Given the description of an element on the screen output the (x, y) to click on. 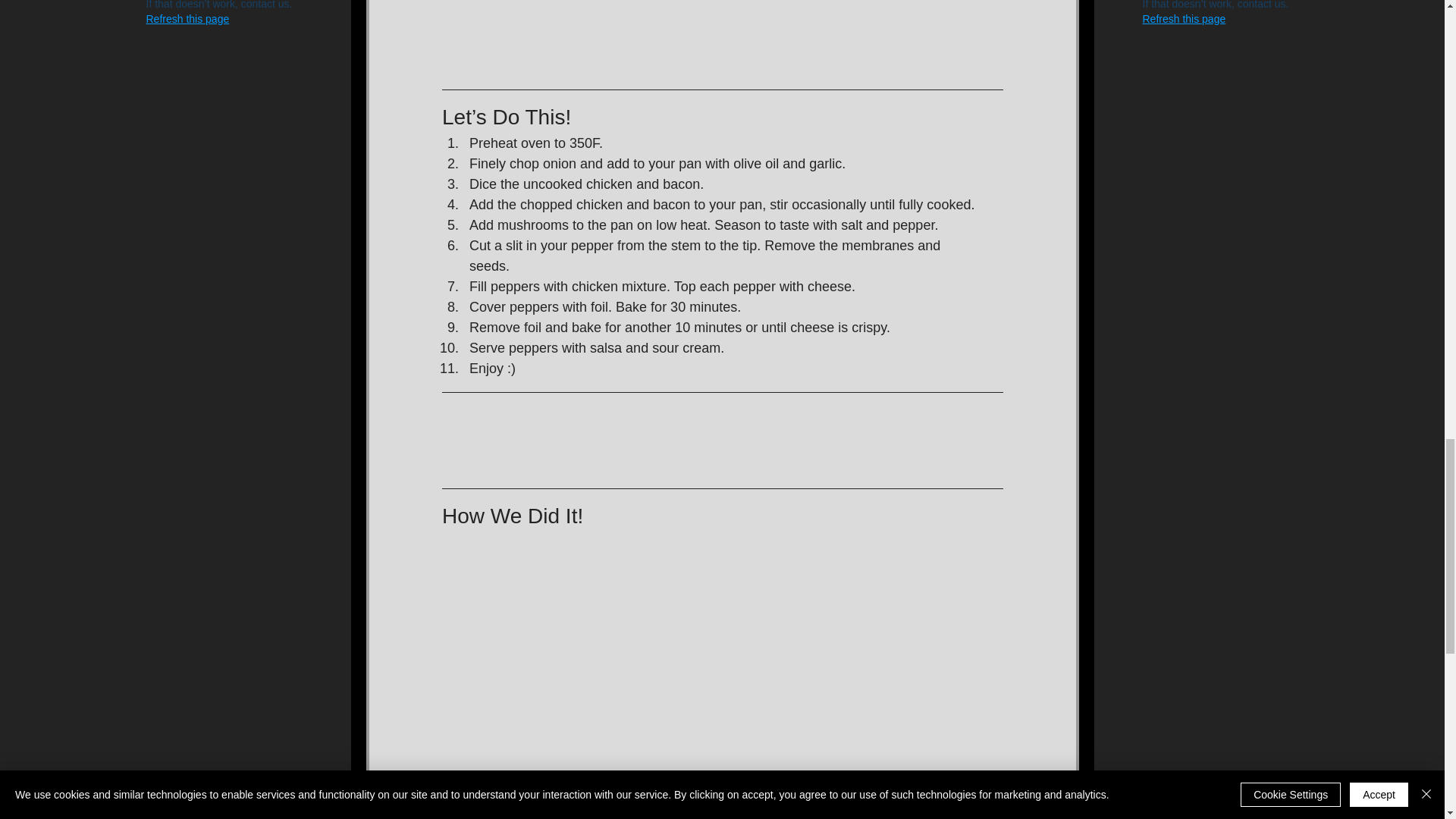
remote content (722, 439)
Refresh this page (186, 18)
remote content (722, 40)
